Given the description of an element on the screen output the (x, y) to click on. 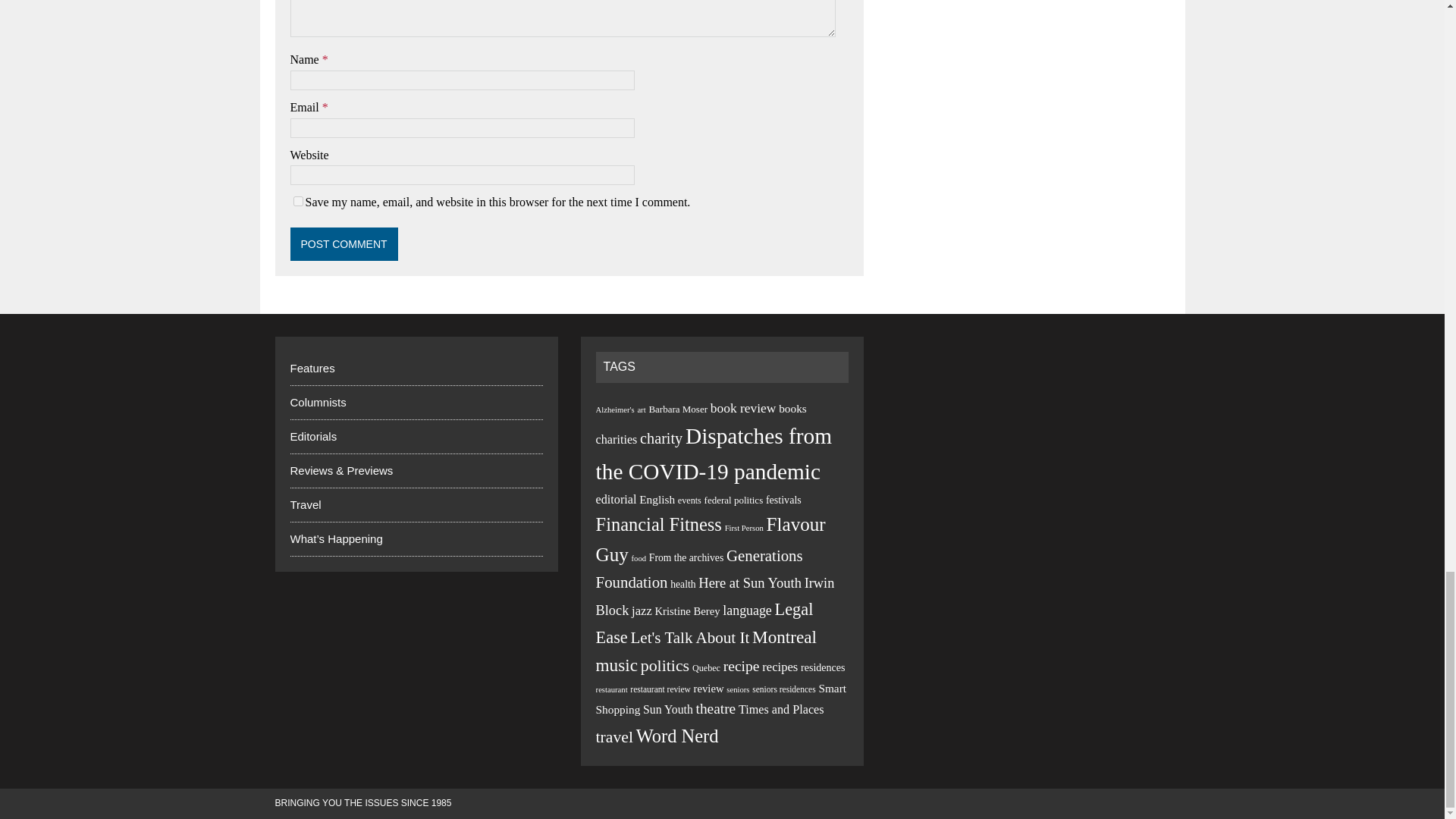
Post Comment (343, 244)
yes (297, 201)
